Given the description of an element on the screen output the (x, y) to click on. 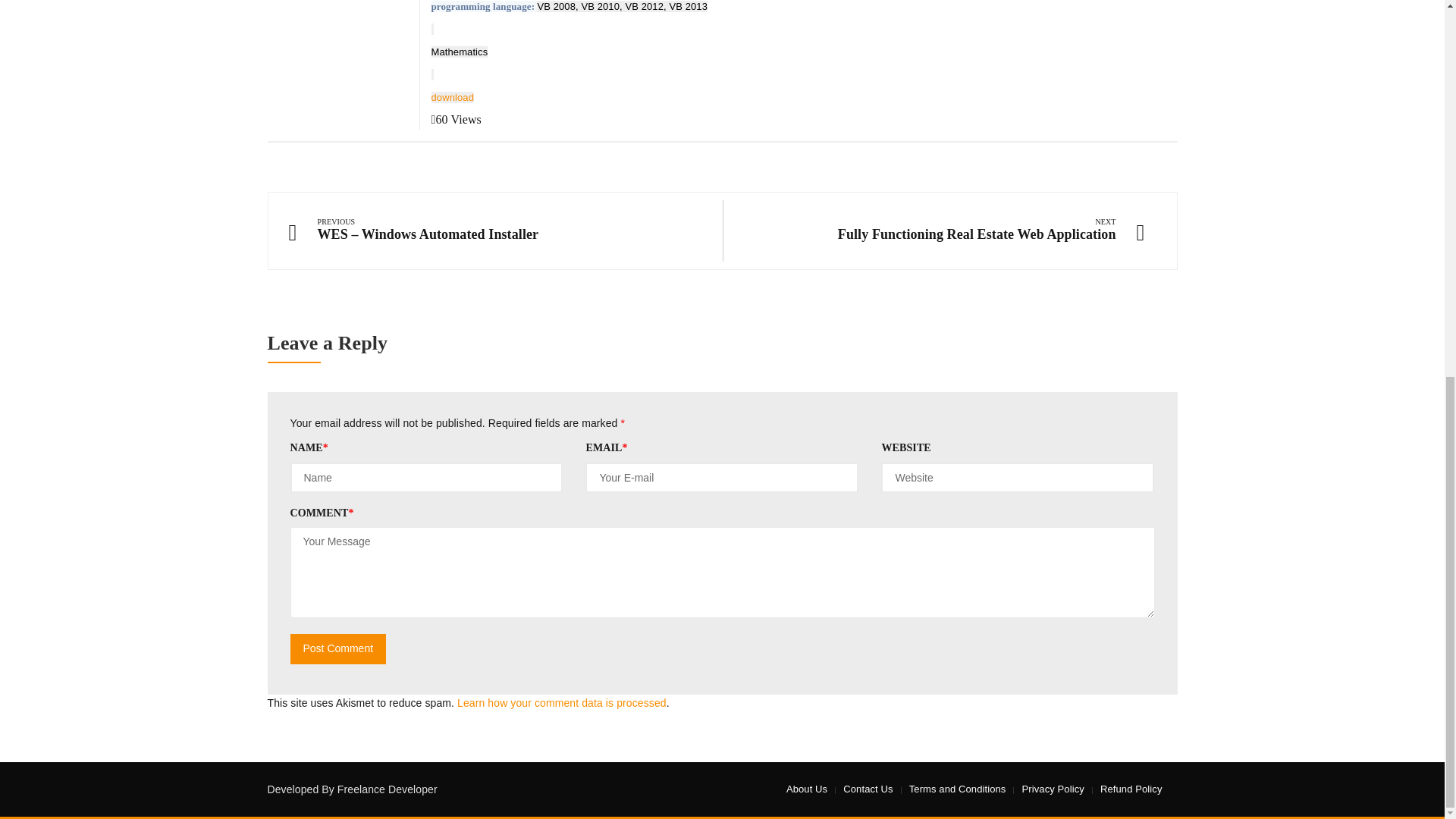
Post Comment (337, 648)
